Given the description of an element on the screen output the (x, y) to click on. 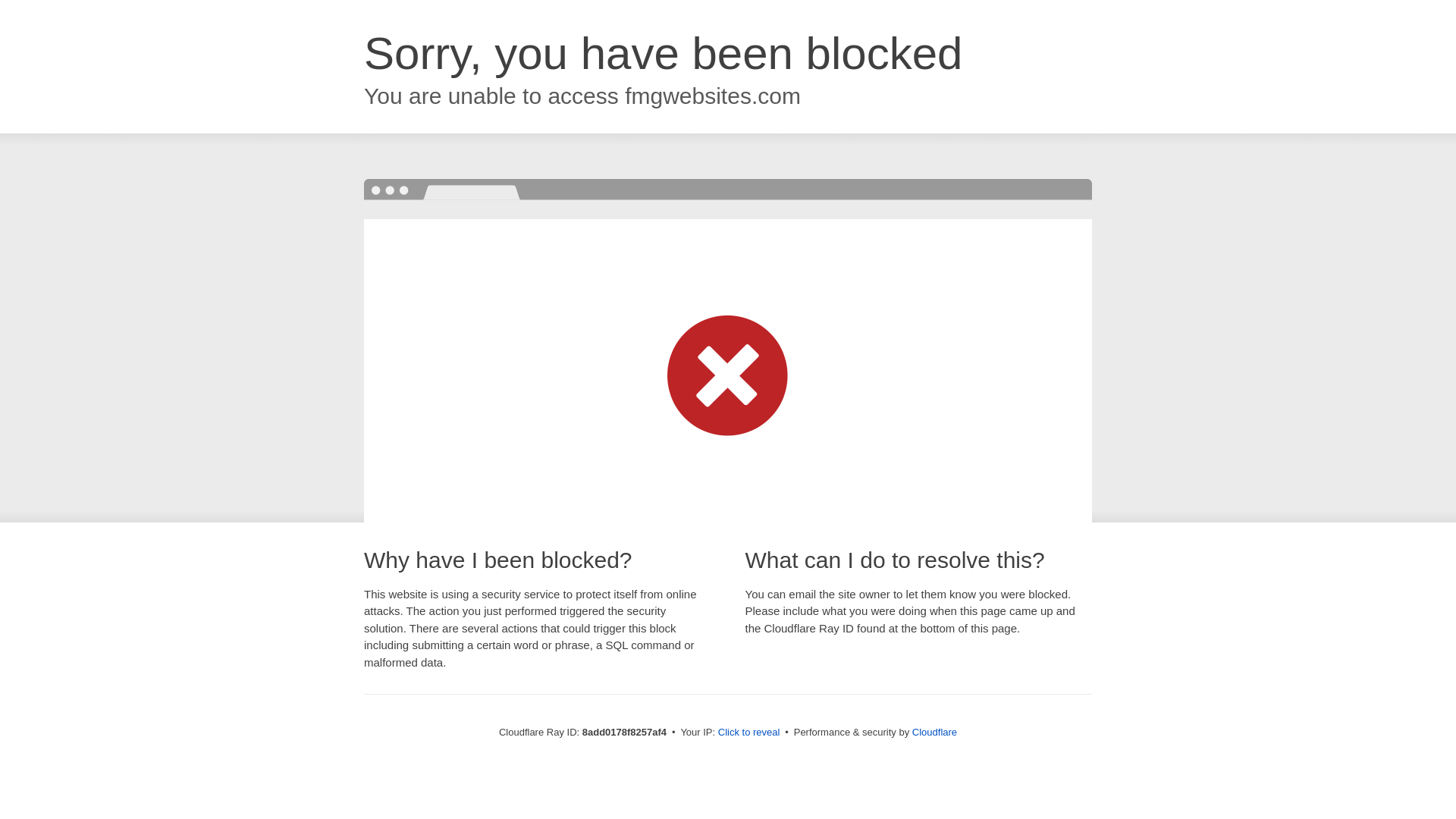
Click to reveal (748, 732)
Cloudflare (934, 731)
